Given the description of an element on the screen output the (x, y) to click on. 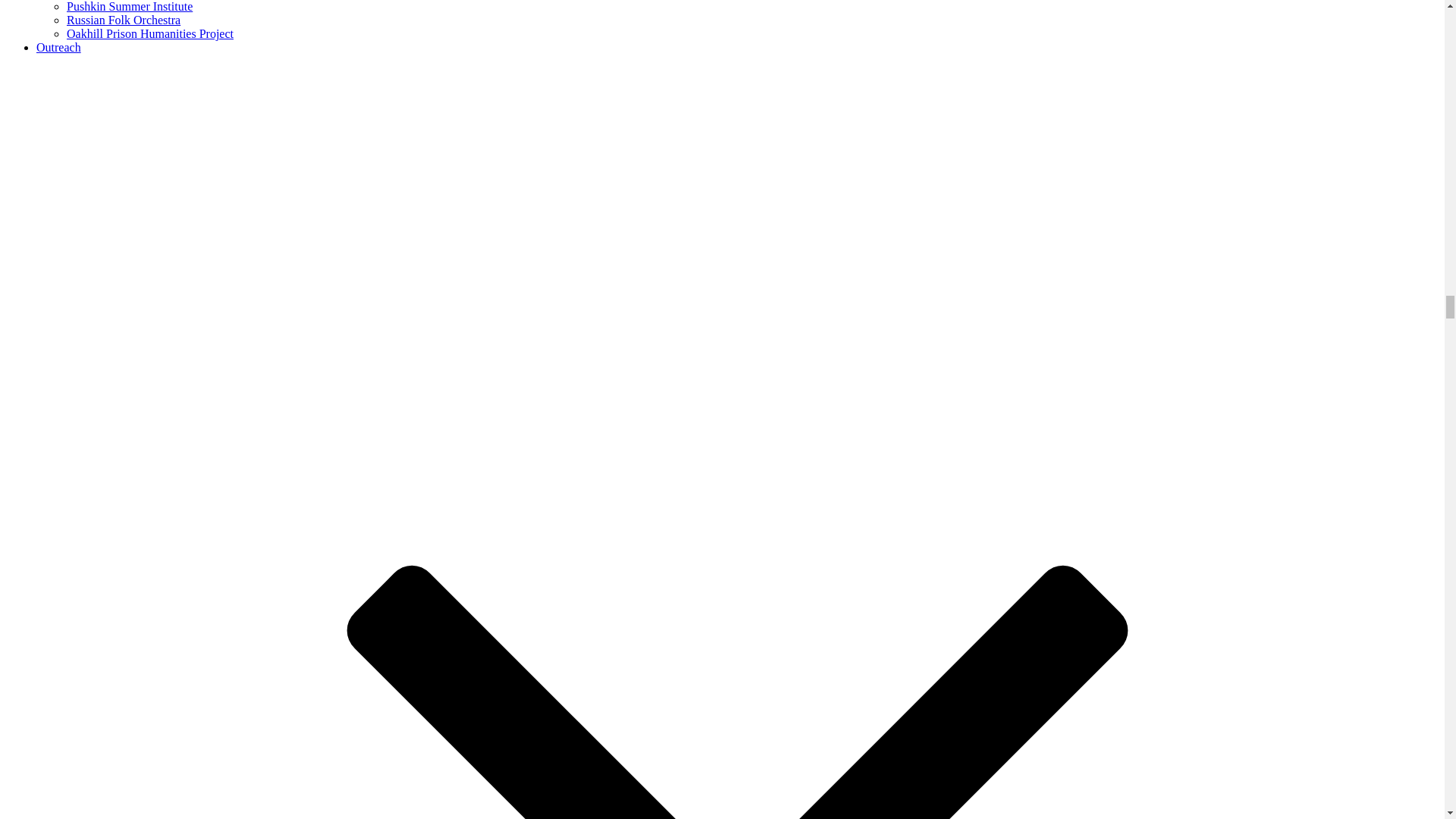
Russian Folk Orchestra (123, 19)
Pushkin Summer Institute (129, 6)
Oakhill Prison Humanities Project (149, 33)
